Given the description of an element on the screen output the (x, y) to click on. 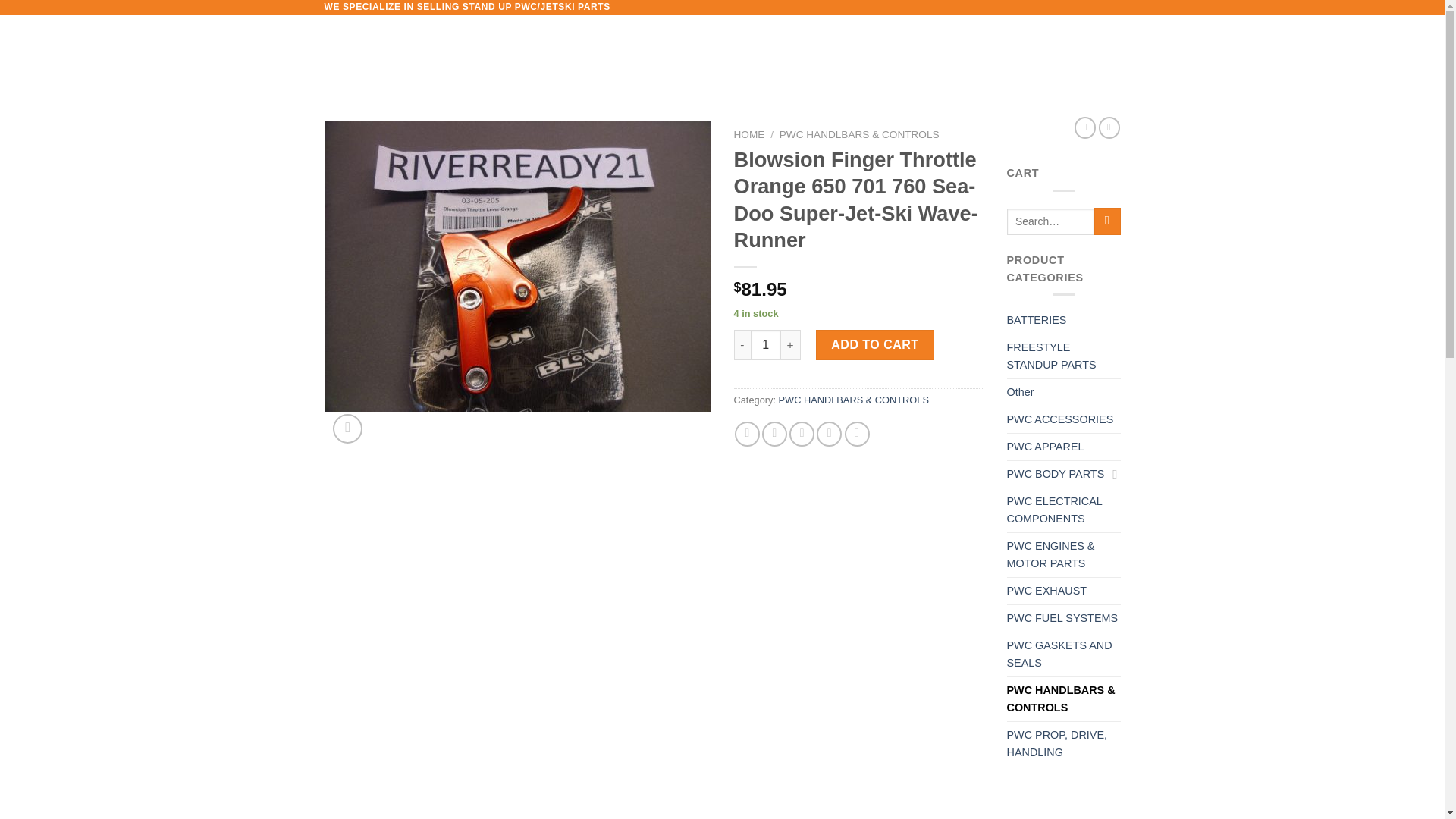
1 (765, 345)
Search (1107, 221)
LOGIN (991, 52)
PWC ACCESSORIES (1064, 419)
Stand Up Parts - JetSki Parts Store (426, 52)
Share on Facebook (747, 433)
HOME (565, 52)
ADD TO CART (874, 345)
SHIPPING AND RETURN POLICY (710, 52)
